Given the description of an element on the screen output the (x, y) to click on. 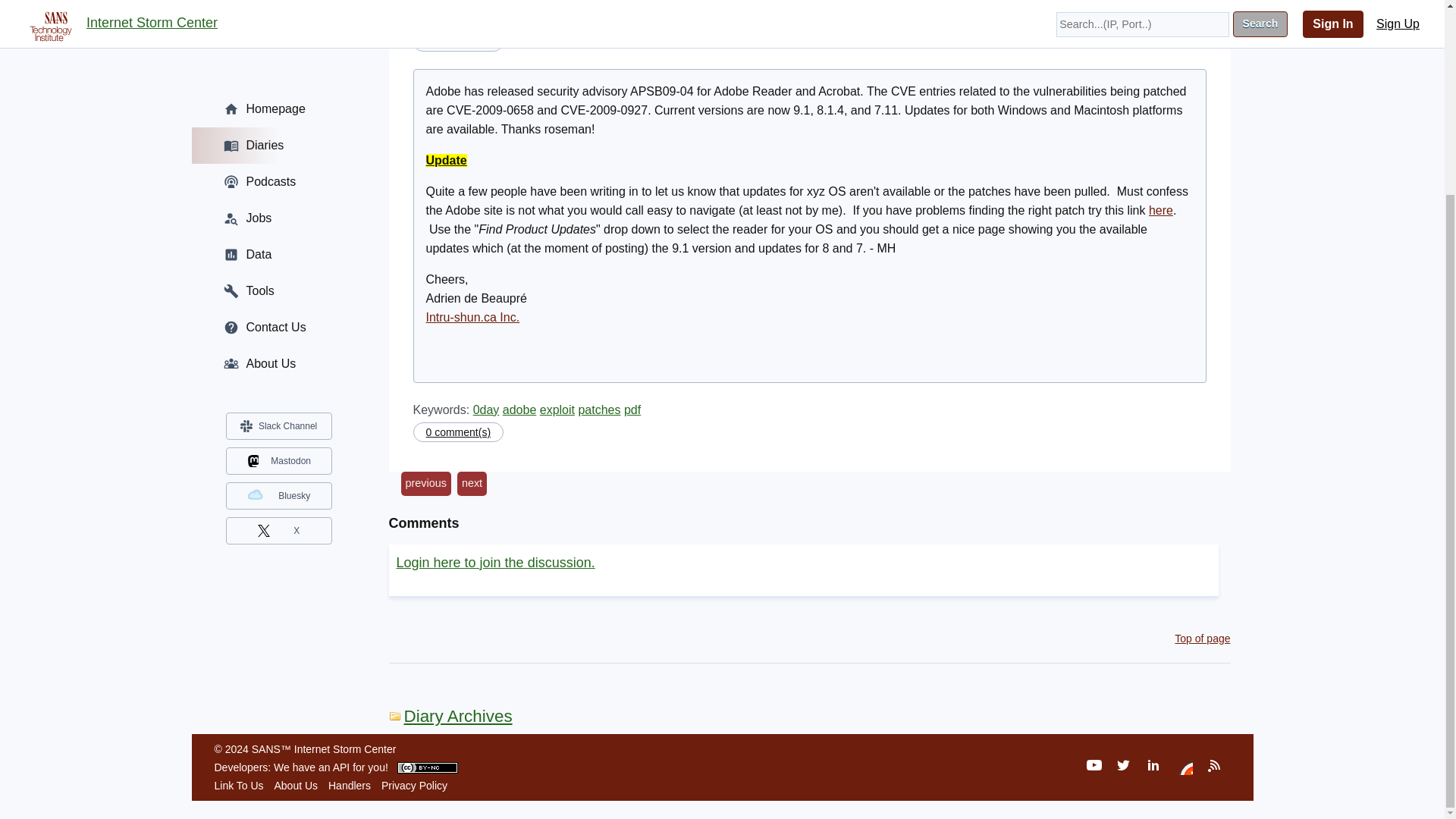
Adrien de Beaupre (472, 11)
Diary Archives (450, 715)
adobe (519, 409)
pdf (632, 409)
next (471, 483)
patches (599, 409)
Data (277, 13)
Share on Facebook (1127, 9)
exploit (557, 409)
0day (486, 409)
